Given the description of an element on the screen output the (x, y) to click on. 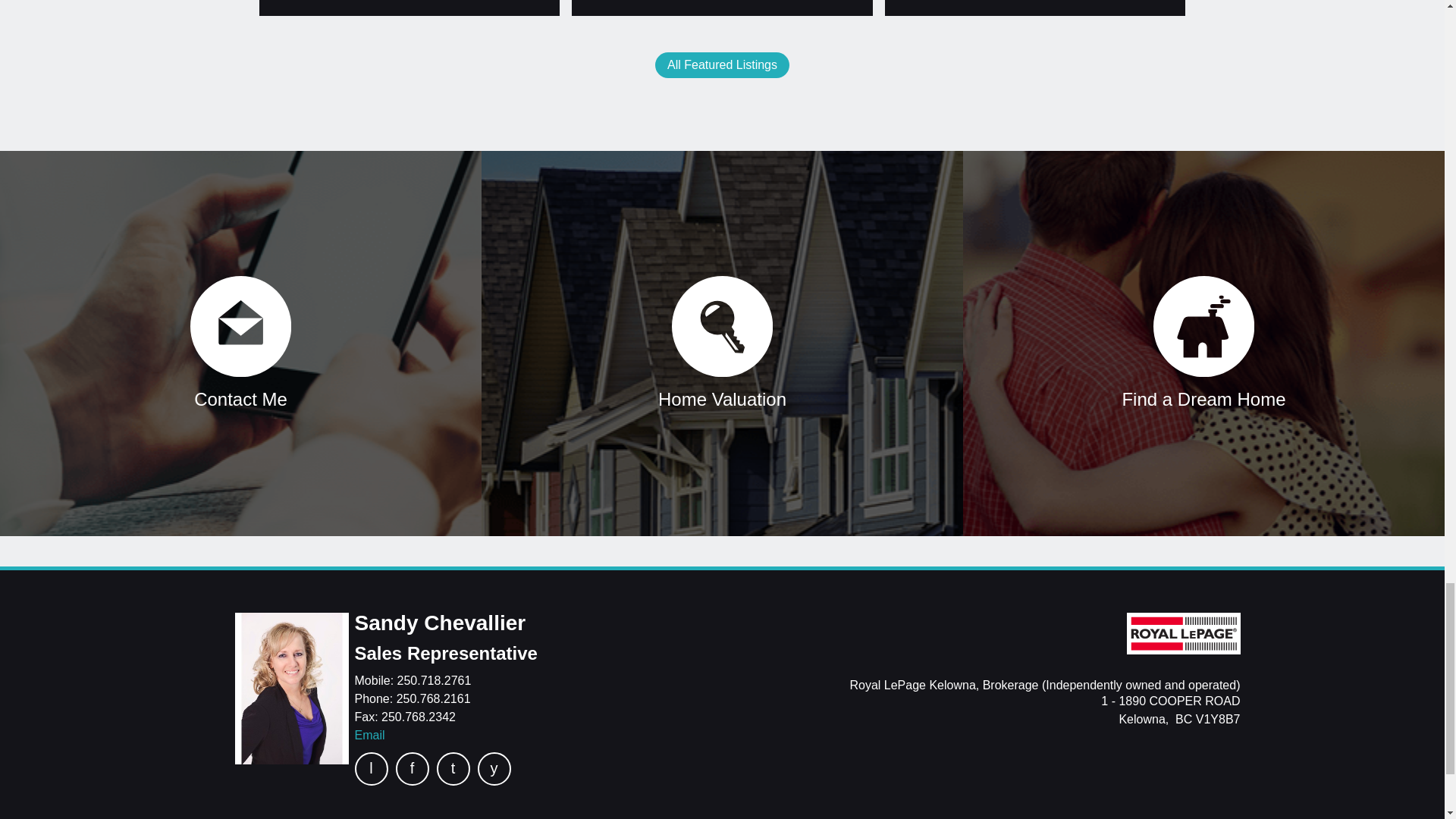
All Featured Listings (722, 64)
